Given the description of an element on the screen output the (x, y) to click on. 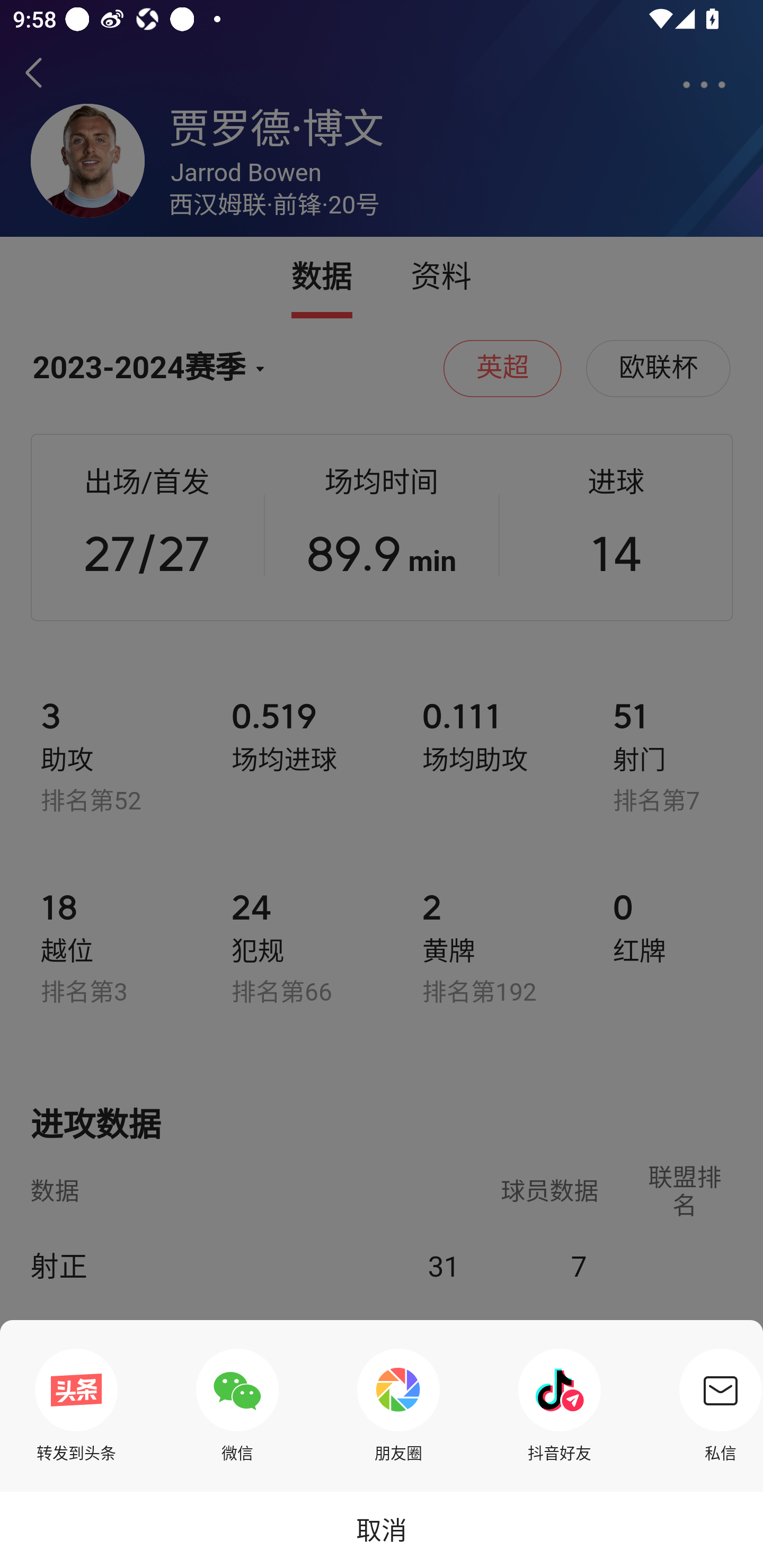
转发到头条 (76, 1405)
微信 (237, 1405)
朋友圈 (398, 1405)
抖音好友 (559, 1405)
私信 (716, 1405)
取消 (381, 1529)
